Given the description of an element on the screen output the (x, y) to click on. 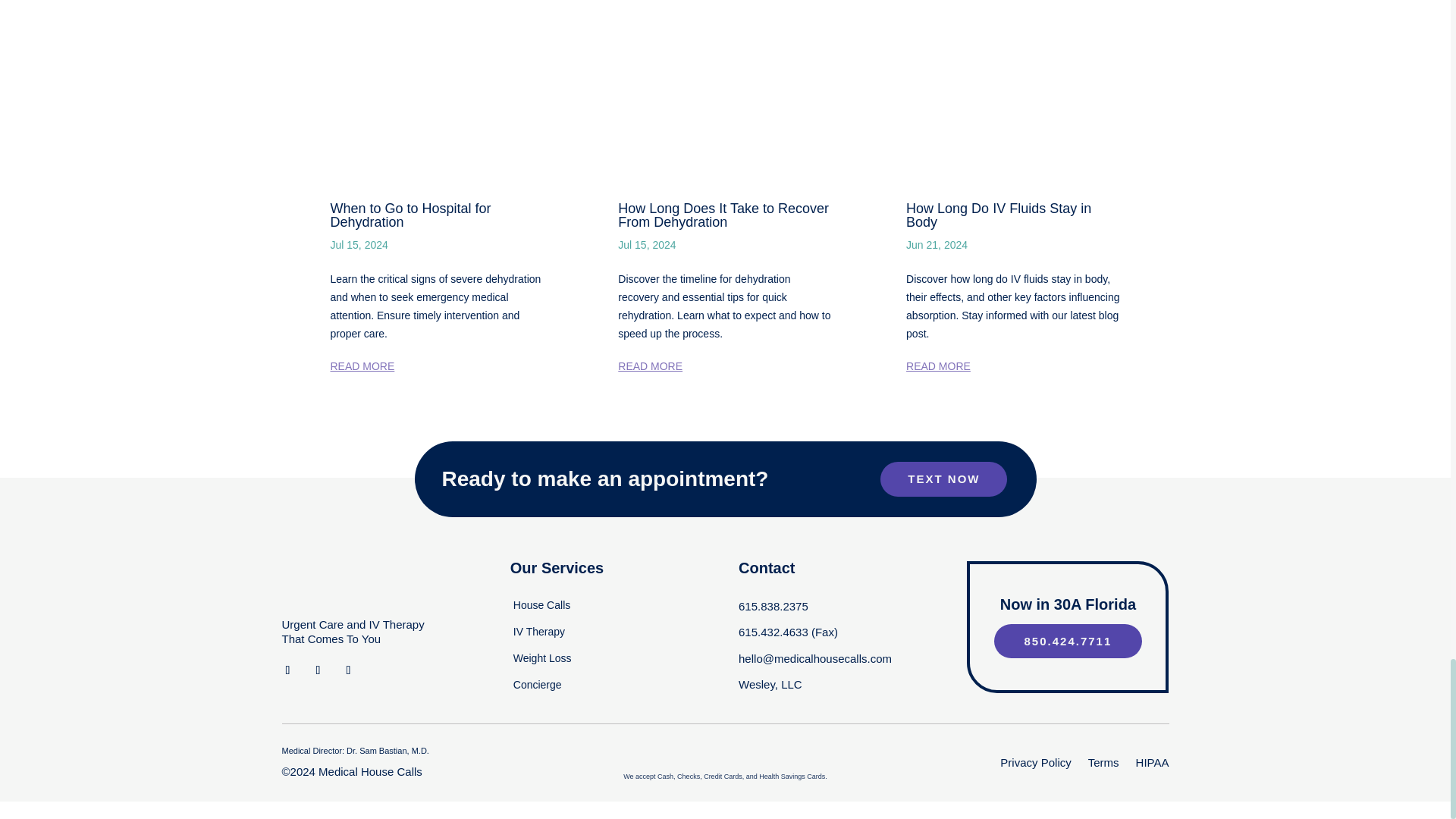
Methods (724, 758)
Follow on Facebook (287, 670)
Follow on Instagram (317, 670)
Follow on LinkedIn (348, 670)
